Given the description of an element on the screen output the (x, y) to click on. 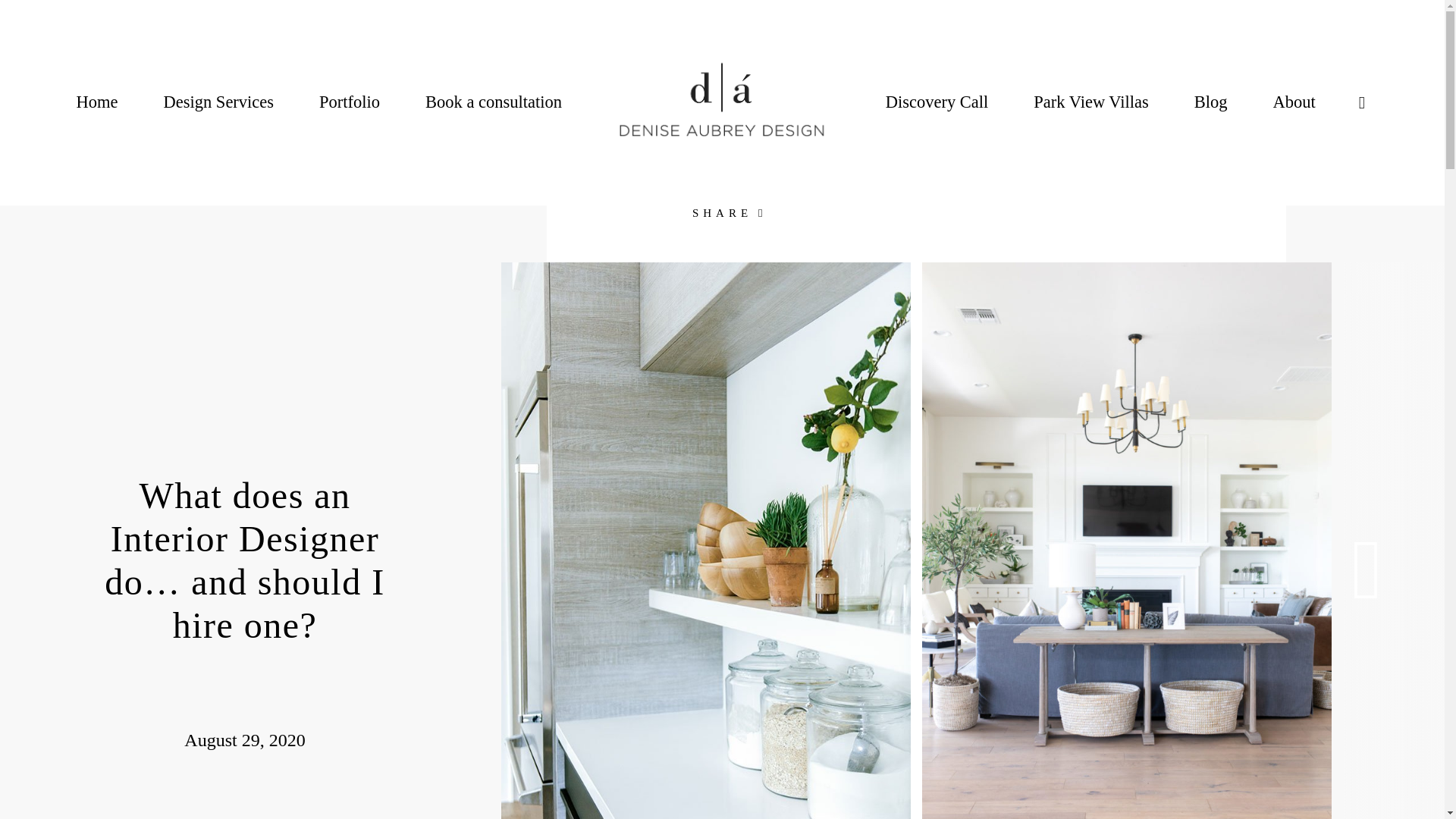
Park View Villas (1090, 102)
Blog (1210, 102)
Home (96, 102)
Book a consultation (493, 102)
About (1294, 102)
Portfolio (349, 102)
Design Services (219, 102)
Discovery Call (936, 102)
